Given the description of an element on the screen output the (x, y) to click on. 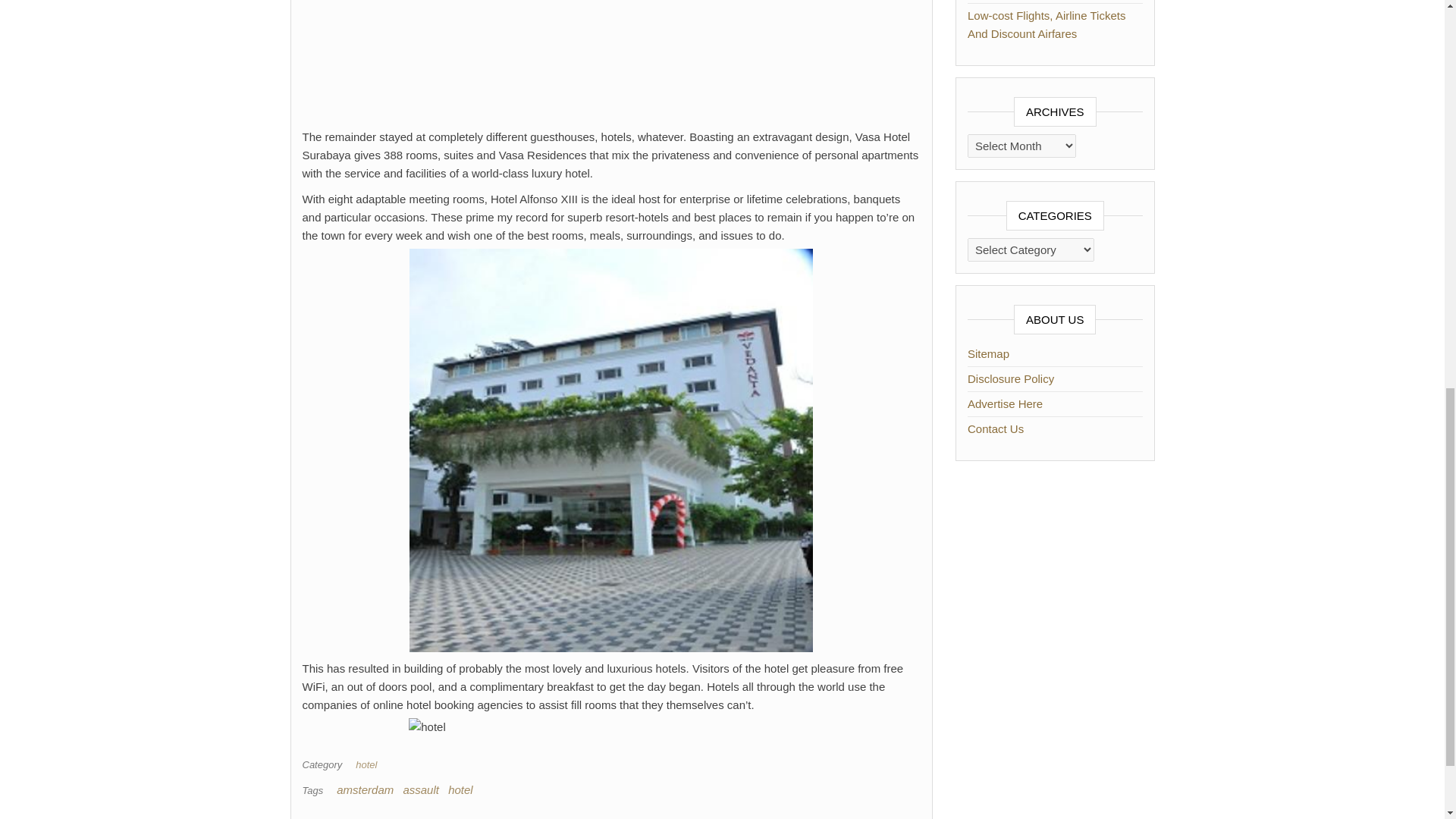
hotel (460, 789)
amsterdam (364, 789)
hotel (368, 764)
assault (421, 789)
